Given the description of an element on the screen output the (x, y) to click on. 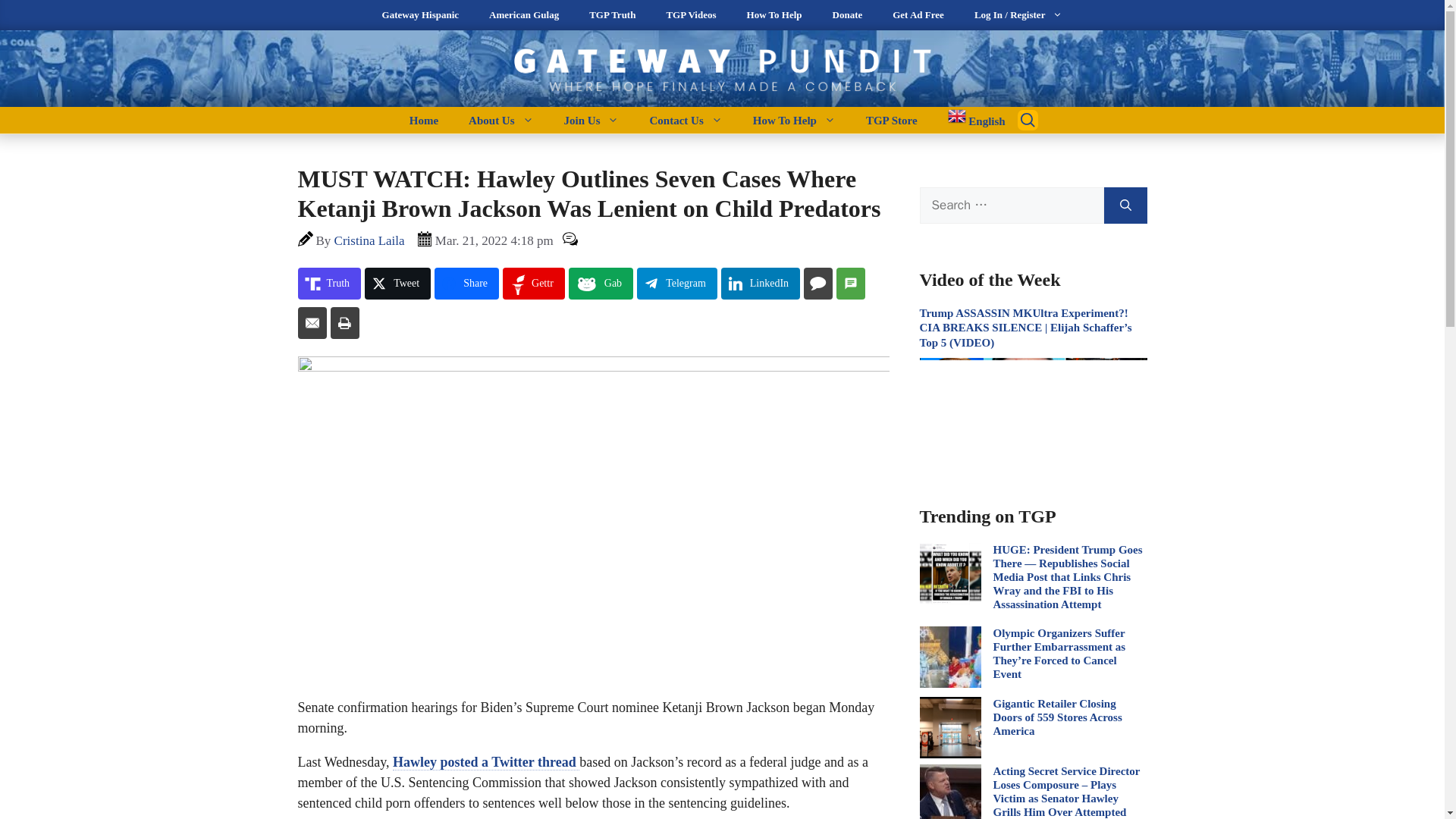
Get Ad Free (918, 15)
How To Help (794, 120)
Share on Telegram (677, 283)
American Gulag (523, 15)
English (969, 120)
TGP Store (891, 120)
Donate (846, 15)
TGP Videos (690, 15)
TGP Truth (611, 15)
Contact Us (684, 120)
Share on Tweet (397, 283)
Share on Truth (329, 283)
View all posts by Cristina Laila (369, 240)
